Given the description of an element on the screen output the (x, y) to click on. 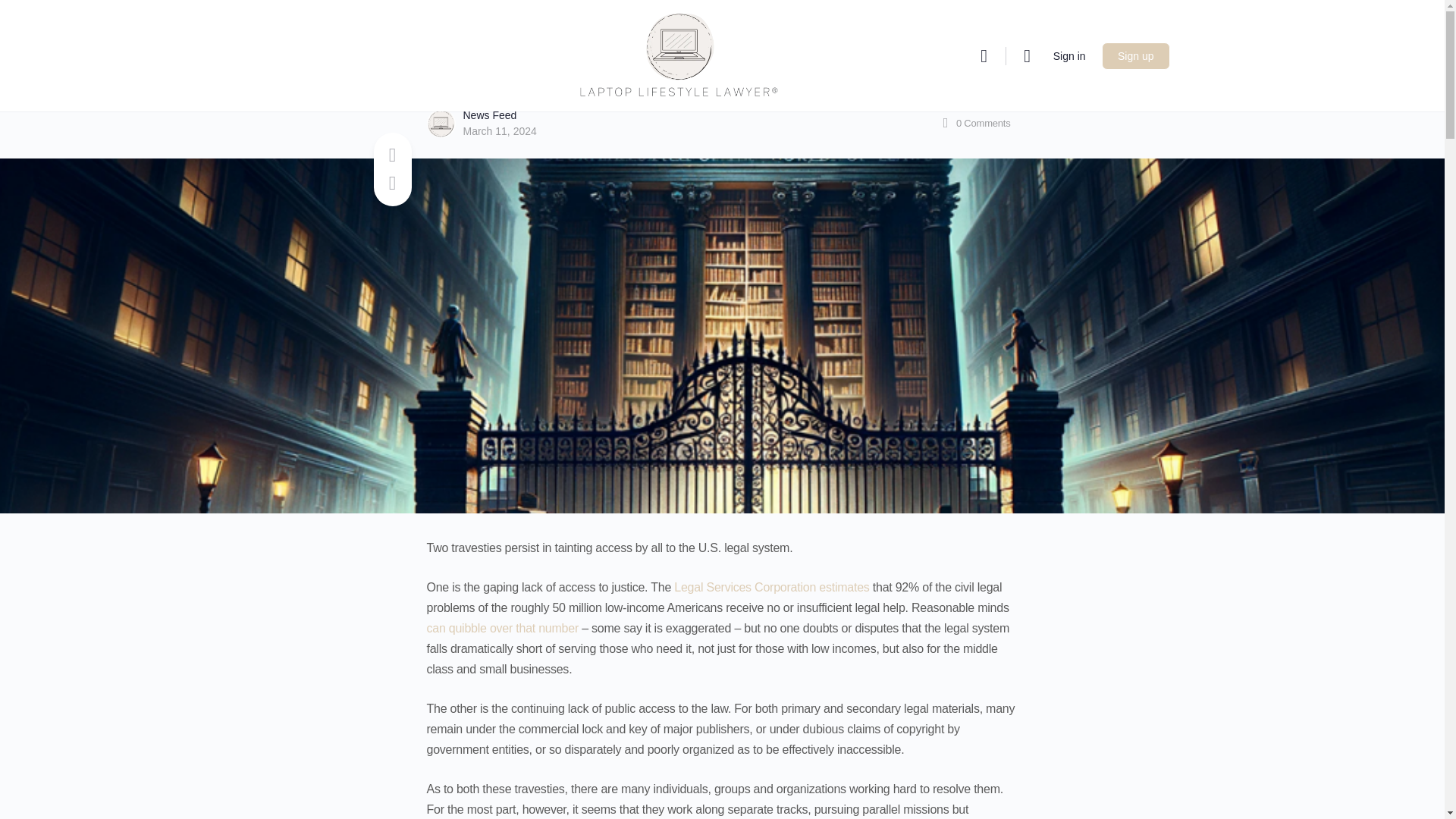
Sign up (1135, 55)
can quibble over that number (502, 627)
Legal Services Corporation estimates (771, 586)
0 Comments (974, 122)
News Feed (489, 114)
Sign in (1068, 54)
March 11, 2024 (499, 131)
